Given the description of an element on the screen output the (x, y) to click on. 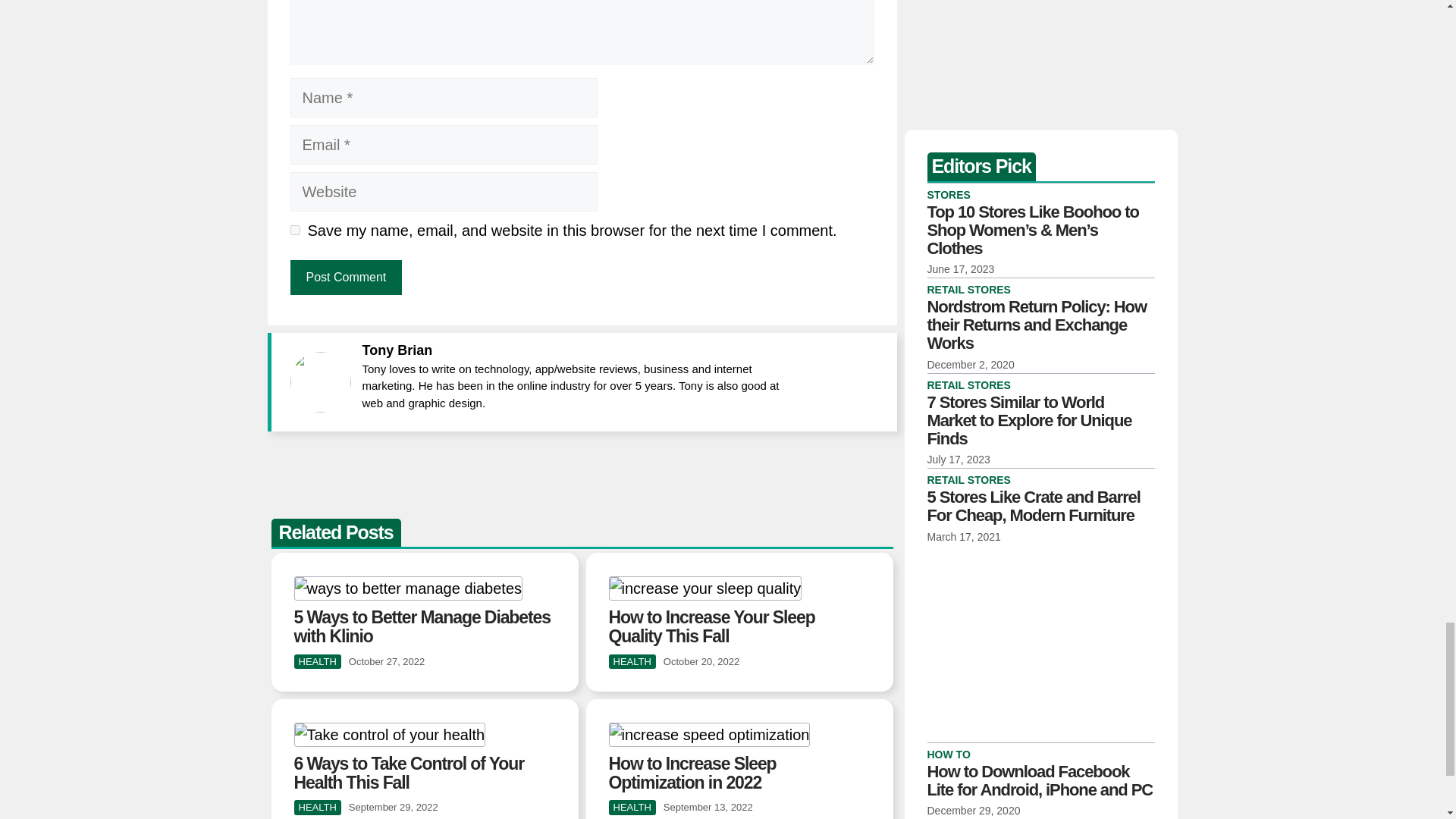
Post Comment (345, 277)
Post Comment (345, 277)
6 Ways to Take Control of Your Health This Fall (409, 772)
5 Ways to Better Manage Diabetes with Klinio (422, 626)
yes (294, 230)
How to Increase Your Sleep Quality This Fall (710, 626)
How to Increase Sleep Optimization in 2022 (692, 772)
